Given the description of an element on the screen output the (x, y) to click on. 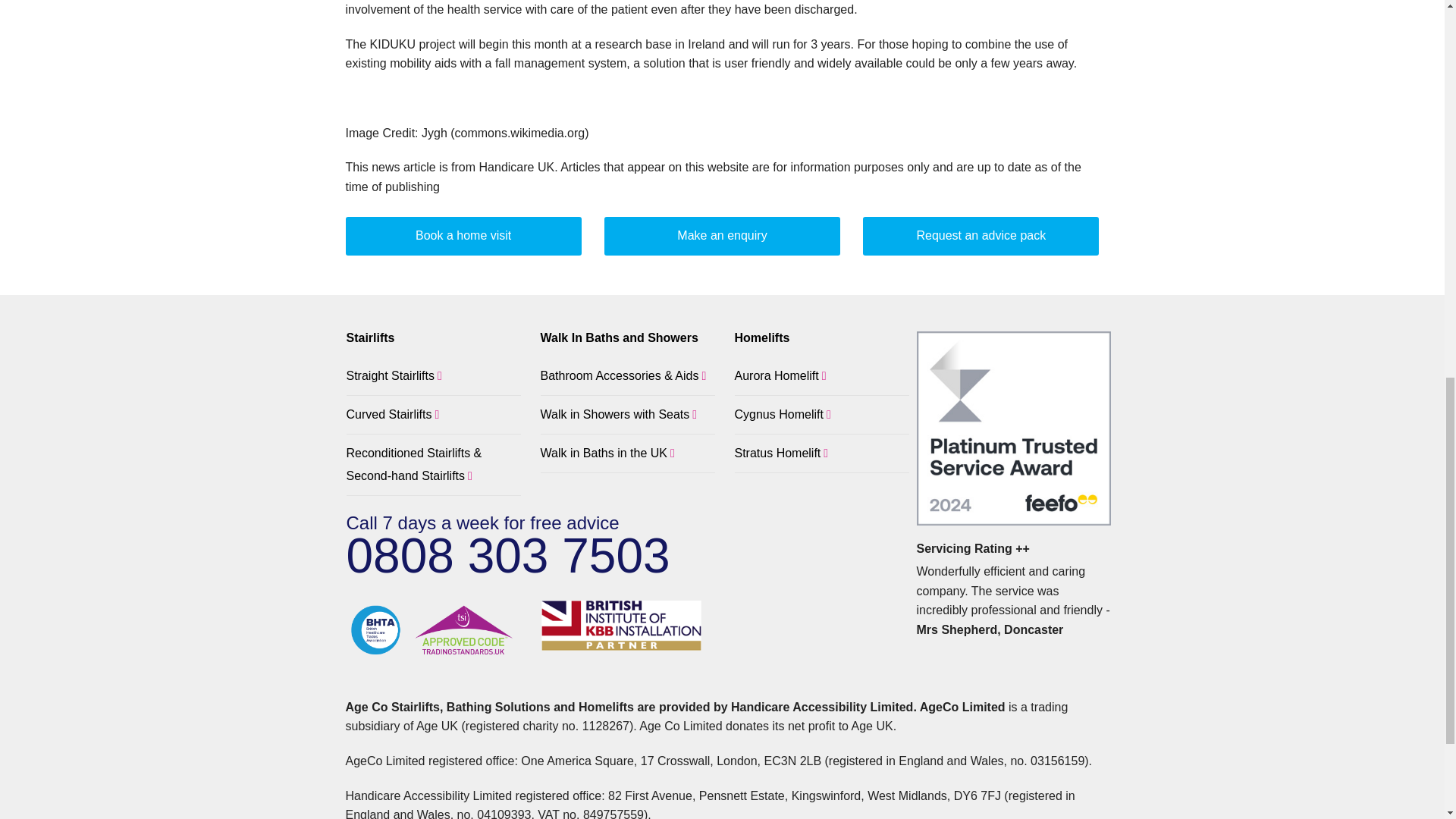
Make an enquiry (722, 236)
Book a home visit (463, 236)
